Given the description of an element on the screen output the (x, y) to click on. 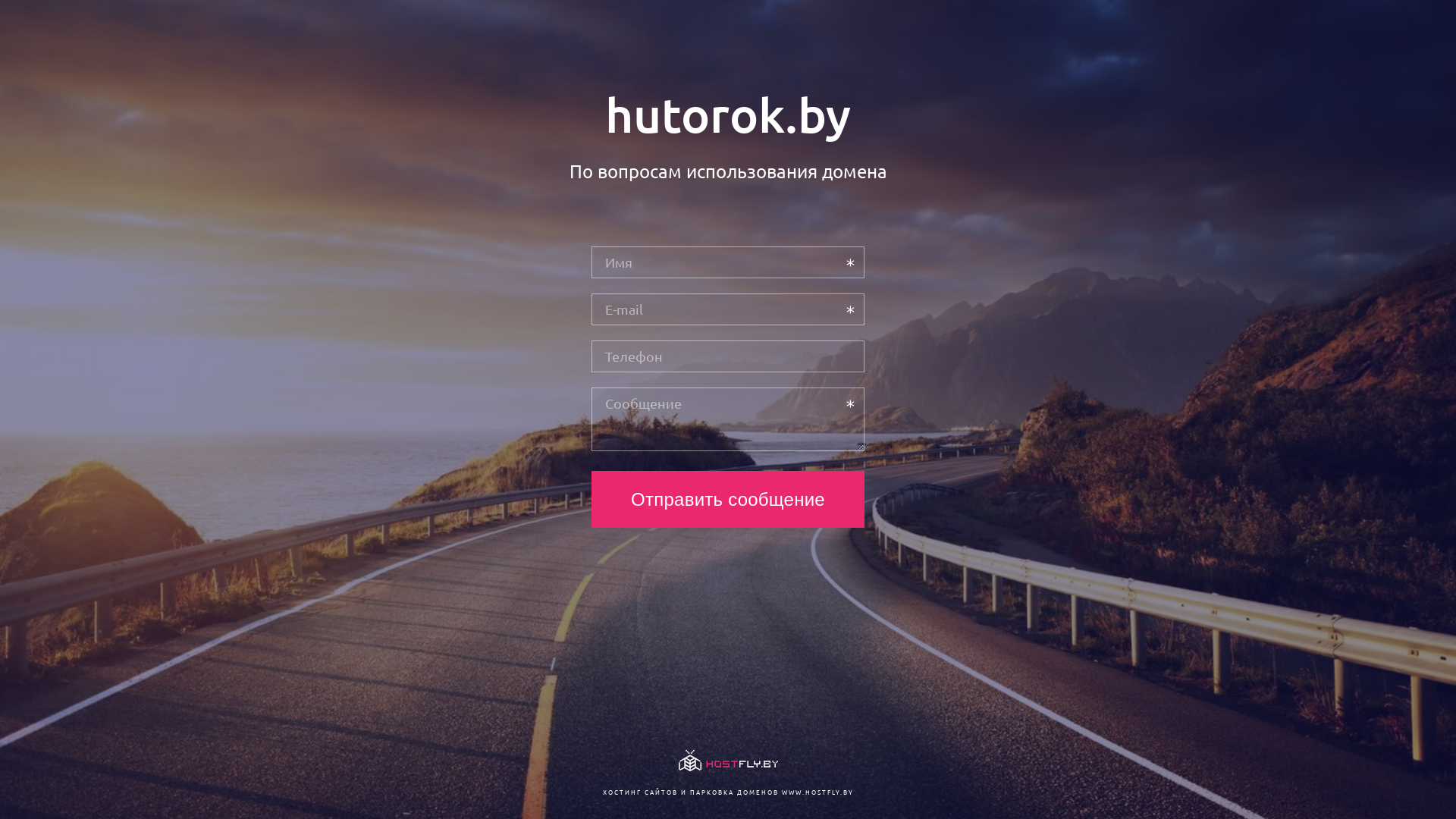
WWW.HOSTFLY.BY Element type: text (817, 791)
